Given the description of an element on the screen output the (x, y) to click on. 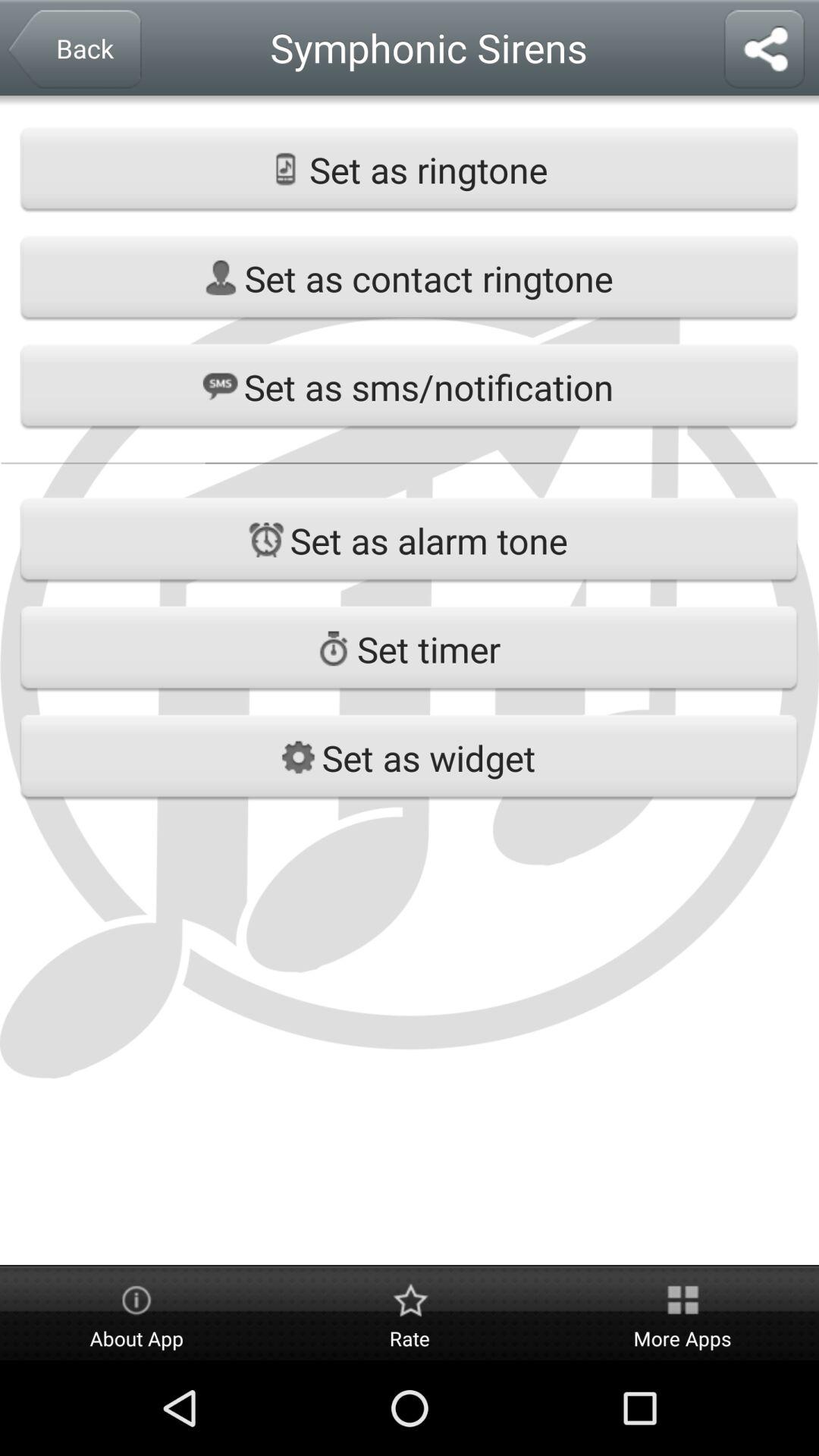
select the button at top left corner (73, 50)
select the sms icon on the web page (220, 386)
select the profile icon on the web page (220, 277)
click the icon left to set as alarm tone (266, 539)
select the icon of settings at last button from symphonic sirens (298, 756)
select the icon which is left side of the set as ringtone (285, 168)
click the button on the bottom right corner of the web page (683, 1313)
click on back (73, 50)
select the icon on left to the button set as ringtone on the web page (285, 168)
select the icon on left to the button set as alarm tone on the web page (266, 539)
